Given the description of an element on the screen output the (x, y) to click on. 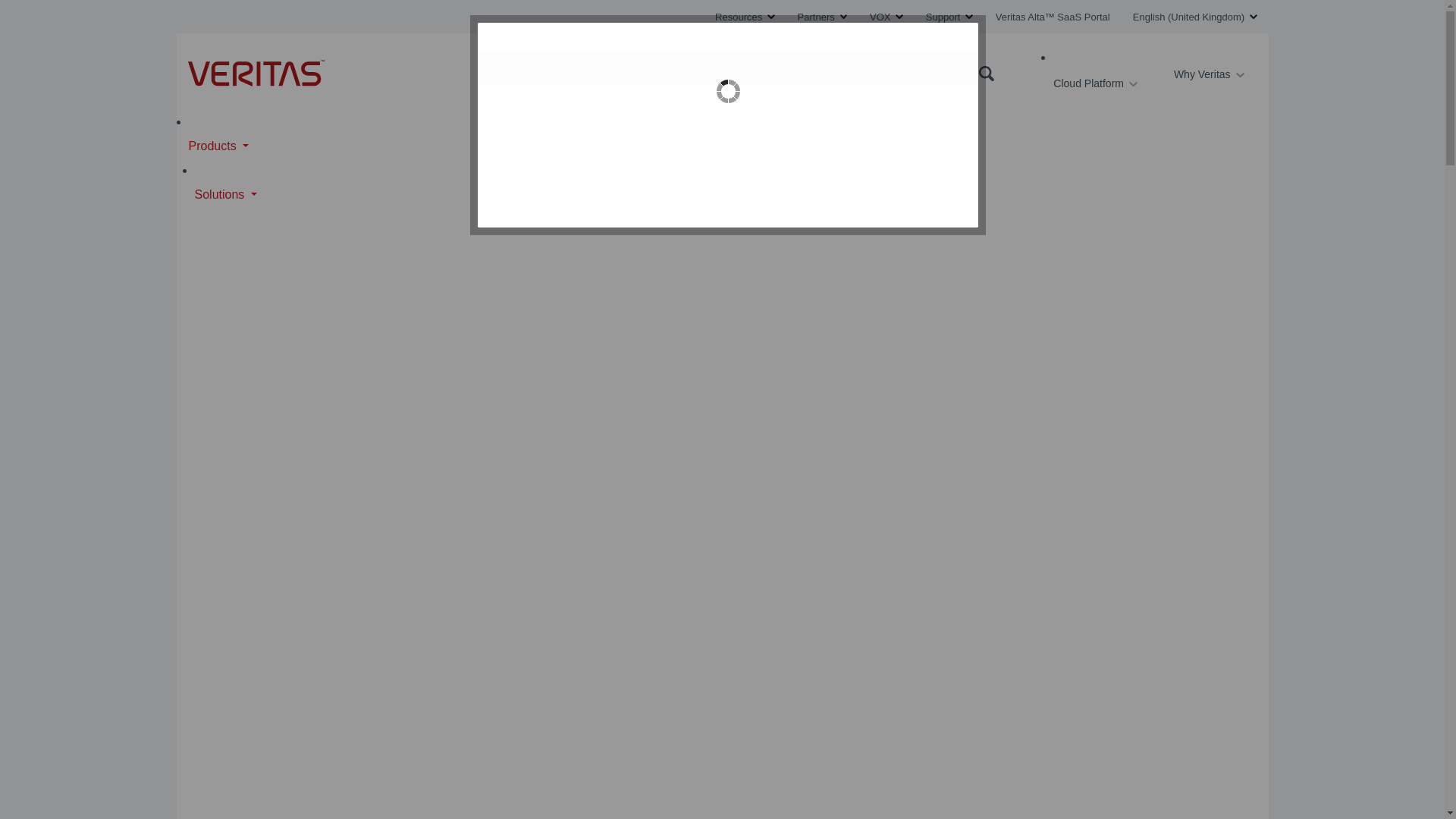
VOX (885, 16)
Partners (822, 16)
Resources (744, 16)
Support (949, 16)
TrustArc Cookie Consent Manager (727, 124)
